Given the description of an element on the screen output the (x, y) to click on. 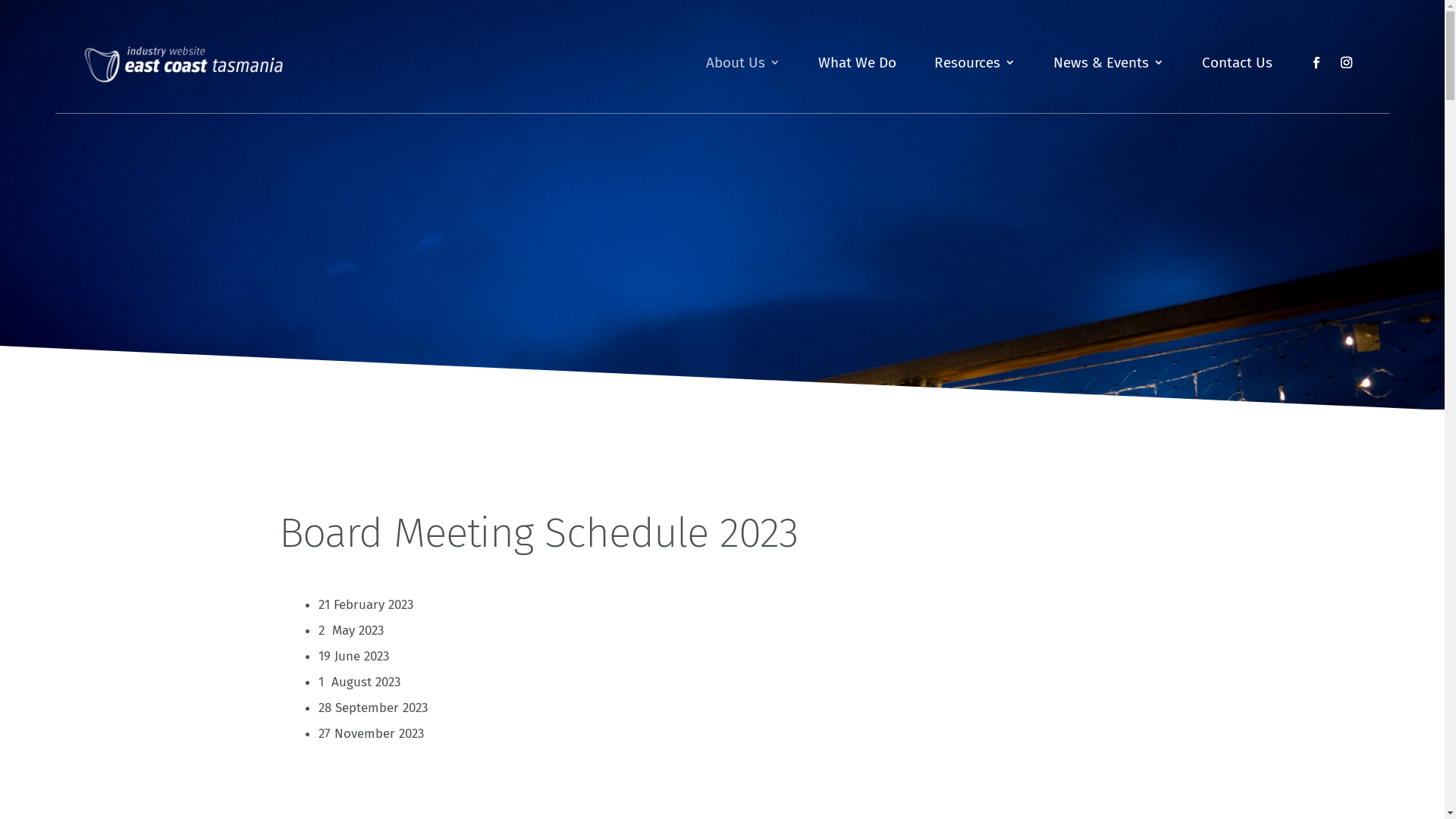
Contact Us Element type: text (1236, 90)
What We Do Element type: text (856, 90)
Resources Element type: text (974, 90)
News & Events Element type: text (1107, 90)
About Us Element type: text (742, 90)
